Given the description of an element on the screen output the (x, y) to click on. 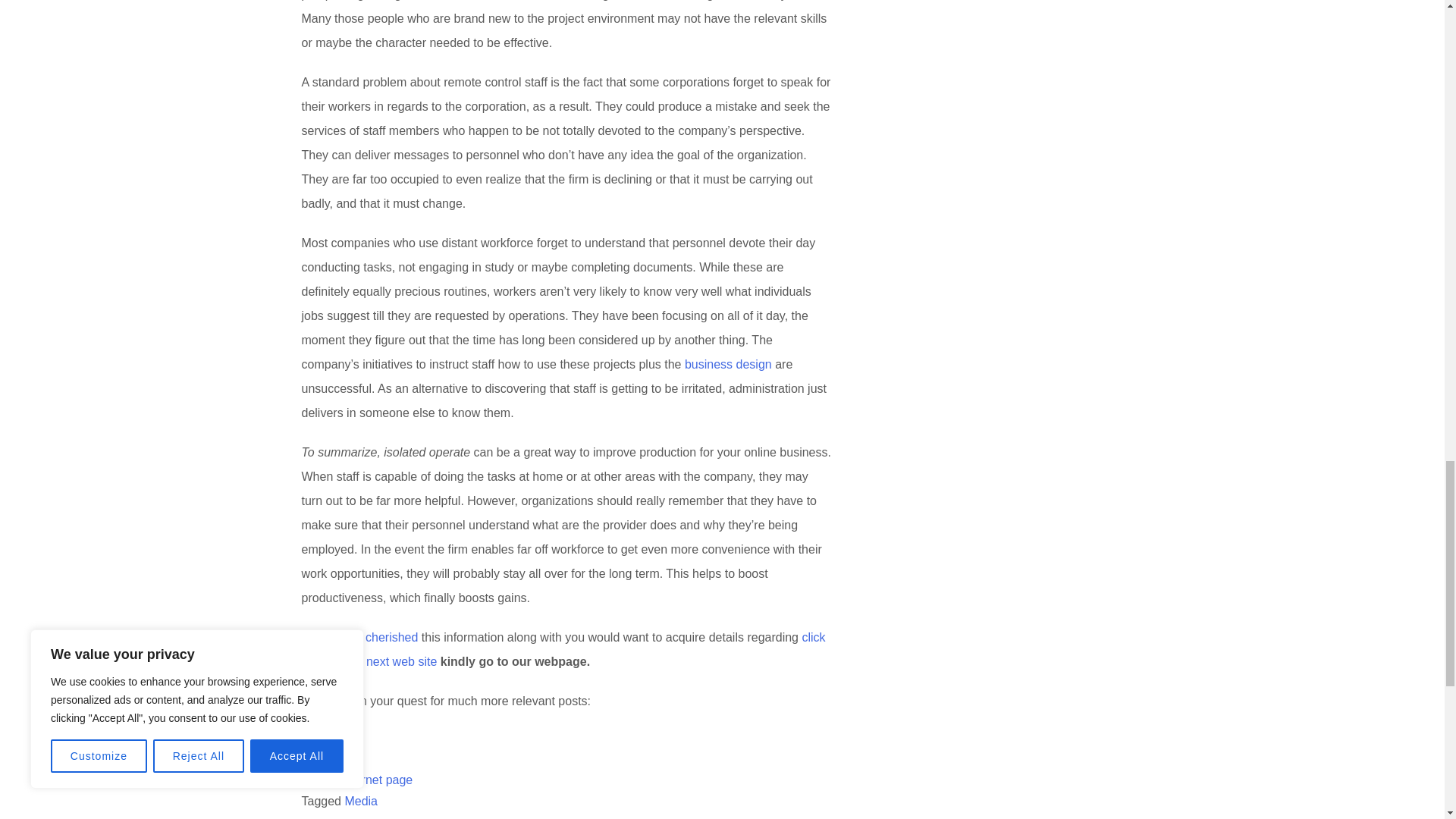
Check (318, 739)
Similar internet page (357, 779)
click through the next web site (563, 649)
Media (360, 800)
cherished (391, 636)
business design (727, 364)
